Given the description of an element on the screen output the (x, y) to click on. 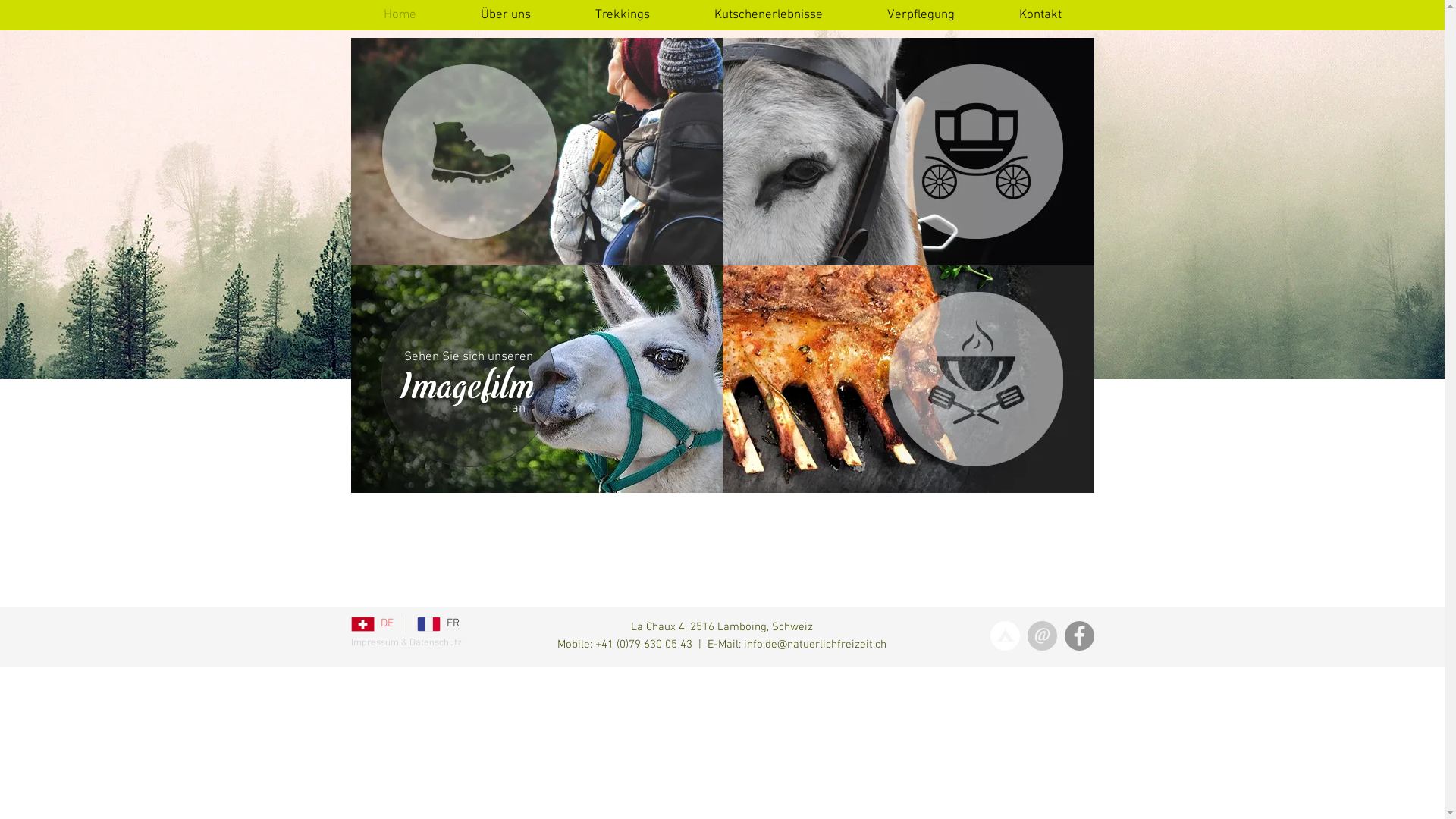
Verpflegung Element type: text (920, 15)
+41 (0)79 630 05 43 Element type: text (643, 643)
Kutschenerlebnisse Element type: text (767, 15)
info.de@natuerlichfreizeit.ch Element type: text (814, 643)
FR Element type: text (437, 623)
La Chaux 4, 2516 Lamboing, Schweiz Element type: text (721, 626)
Trekkings Element type: text (622, 15)
DE Element type: text (371, 623)
Impressum & Datenschutz Element type: text (405, 643)
Kontakt Element type: text (1039, 15)
Home Element type: text (399, 15)
